Given the description of an element on the screen output the (x, y) to click on. 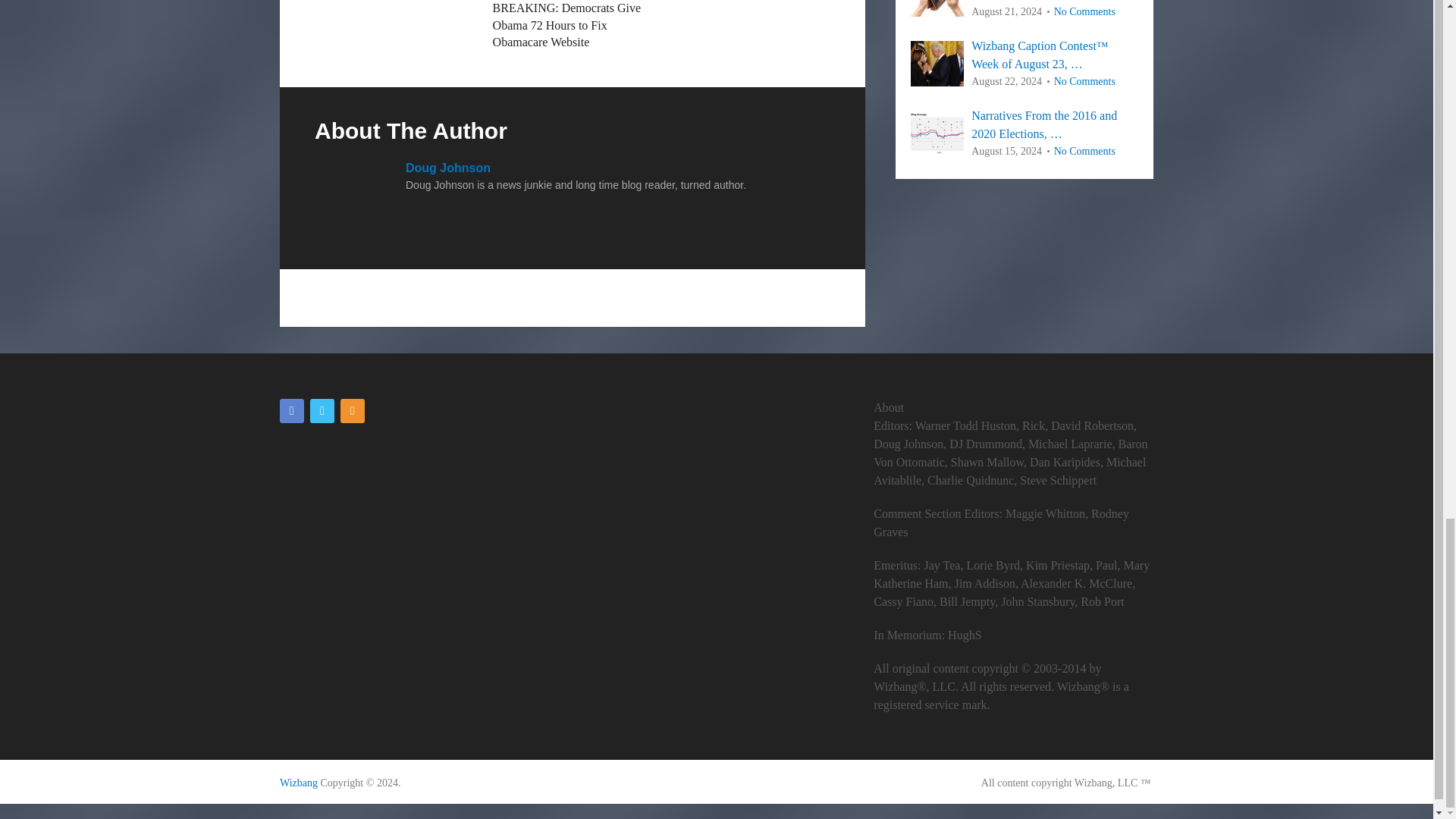
Doug Johnson (448, 167)
